Given the description of an element on the screen output the (x, y) to click on. 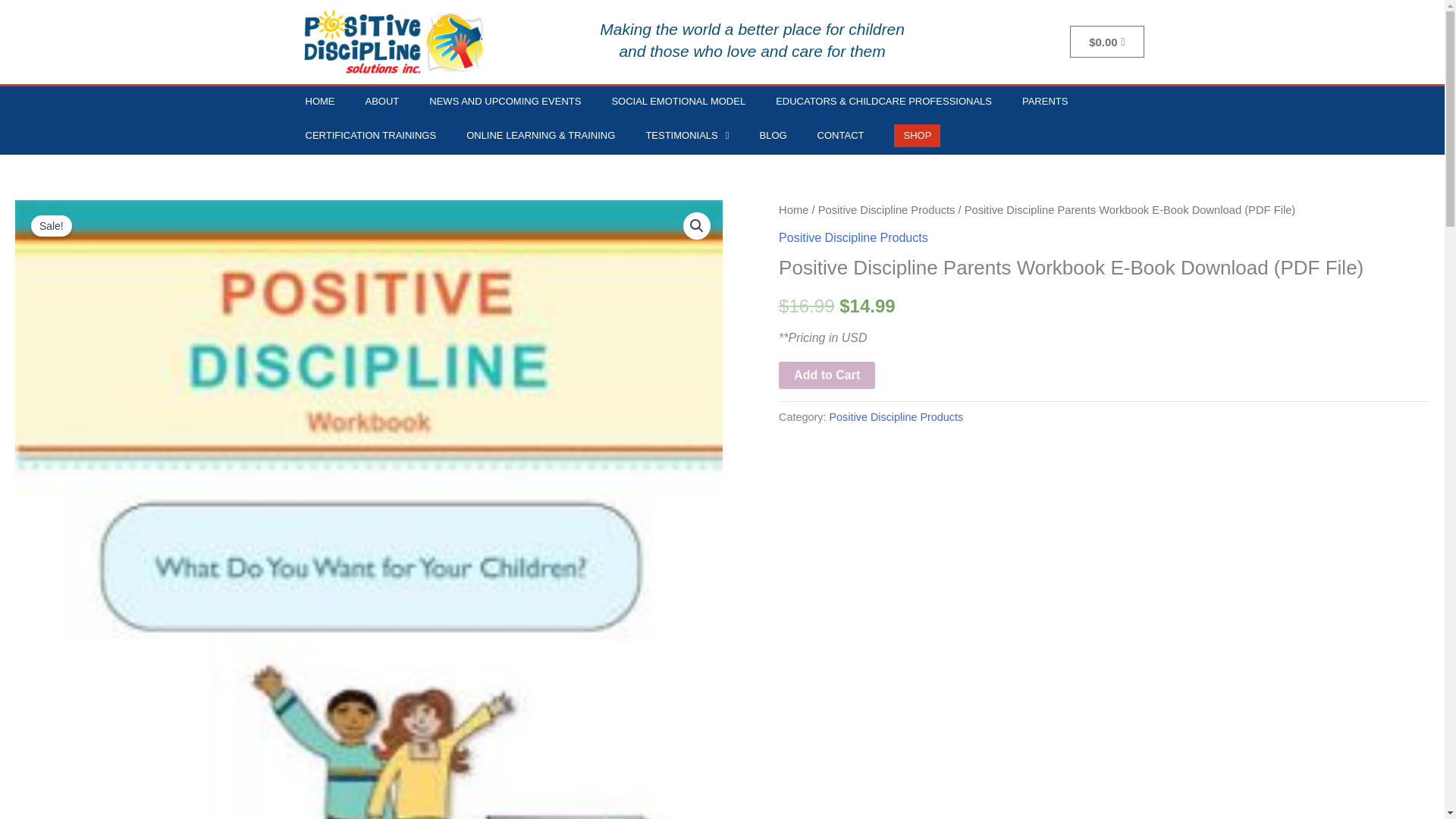
ABOUT (382, 101)
Home (793, 209)
CONTACT (840, 135)
BLOG (773, 135)
HOME (319, 101)
NEWS AND UPCOMING EVENTS (504, 101)
Positive Discipline Products (853, 237)
PARENTS (1045, 101)
CERTIFICATION TRAININGS (370, 135)
Positive Discipline Products (896, 417)
